Given the description of an element on the screen output the (x, y) to click on. 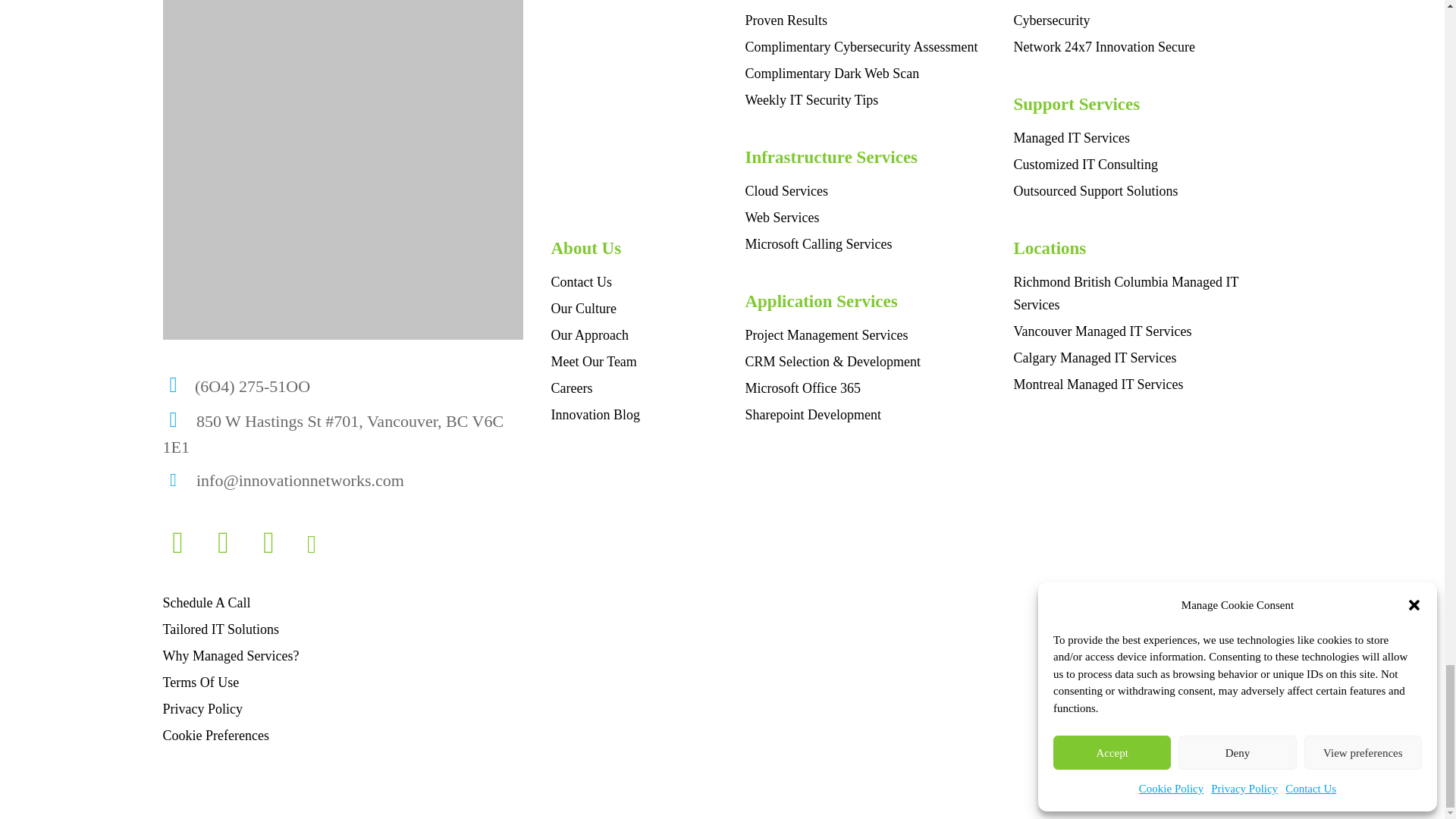
Innovation Networks on Facebook (230, 548)
Innovation Networks on YouTube (318, 548)
Innovation Networks on Instagram (184, 548)
Innovation Networks on LinkedIn (275, 548)
